Given the description of an element on the screen output the (x, y) to click on. 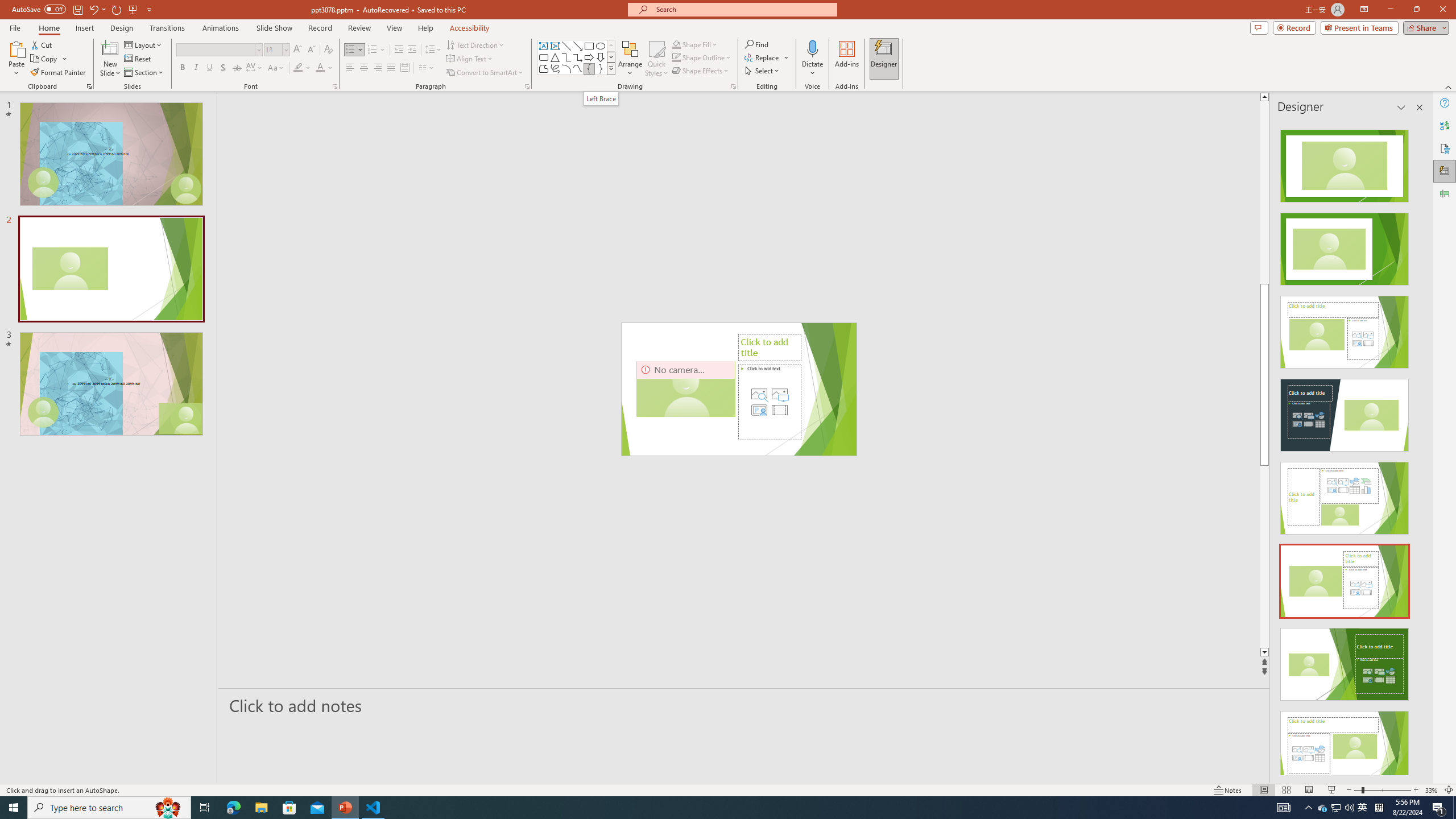
Connector: Elbow (566, 57)
Font Color Red (320, 67)
Freeform: Scribble (554, 68)
Content Placeholder (769, 402)
Justify (390, 67)
Row up (611, 45)
Font Size (276, 49)
Copy (49, 58)
Increase Indent (412, 49)
